Given the description of an element on the screen output the (x, y) to click on. 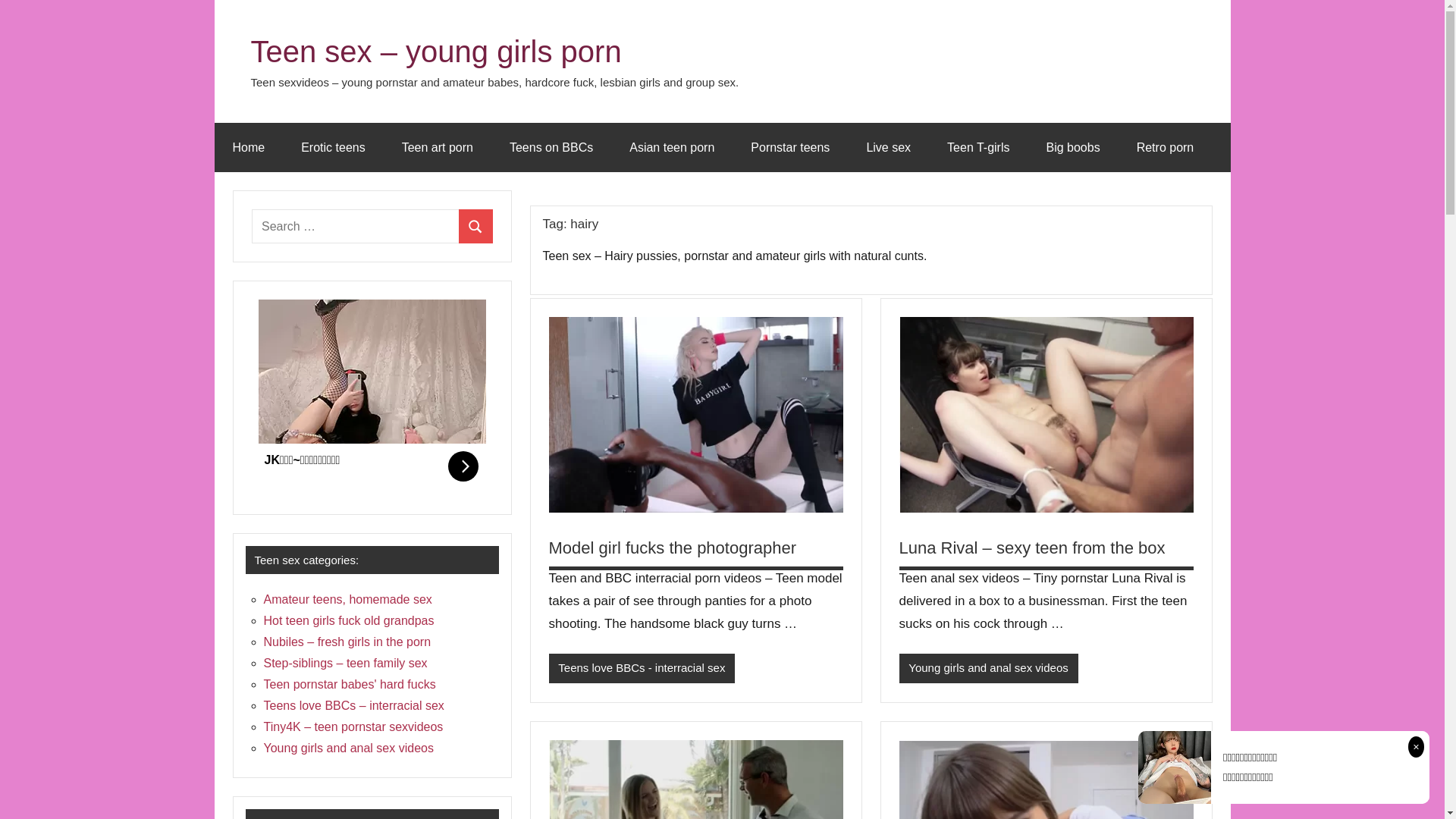
Young girls and anal sex videos Element type: text (988, 668)
Search Element type: text (475, 226)
Pornstar teens Element type: text (789, 147)
Search for: Element type: hover (355, 226)
Model girl fucks the photographer Element type: text (673, 547)
Big boobs Element type: text (1072, 147)
Teens on BBCs Element type: text (551, 147)
Retro porn Element type: text (1165, 147)
Home Element type: text (247, 147)
Asian teen porn Element type: text (671, 147)
Teen art porn Element type: text (437, 147)
Erotic teens Element type: text (332, 147)
Teens love BBCs - interracial sex Element type: text (642, 668)
Hot teen girls fuck old grandpas Element type: text (348, 620)
Teen pornstar babes' hard fucks Element type: text (349, 683)
Young girls and anal sex videos Element type: text (348, 747)
Amateur teens, homemade sex Element type: text (347, 599)
Teen T-girls Element type: text (977, 147)
Live sex Element type: text (887, 147)
